Given the description of an element on the screen output the (x, y) to click on. 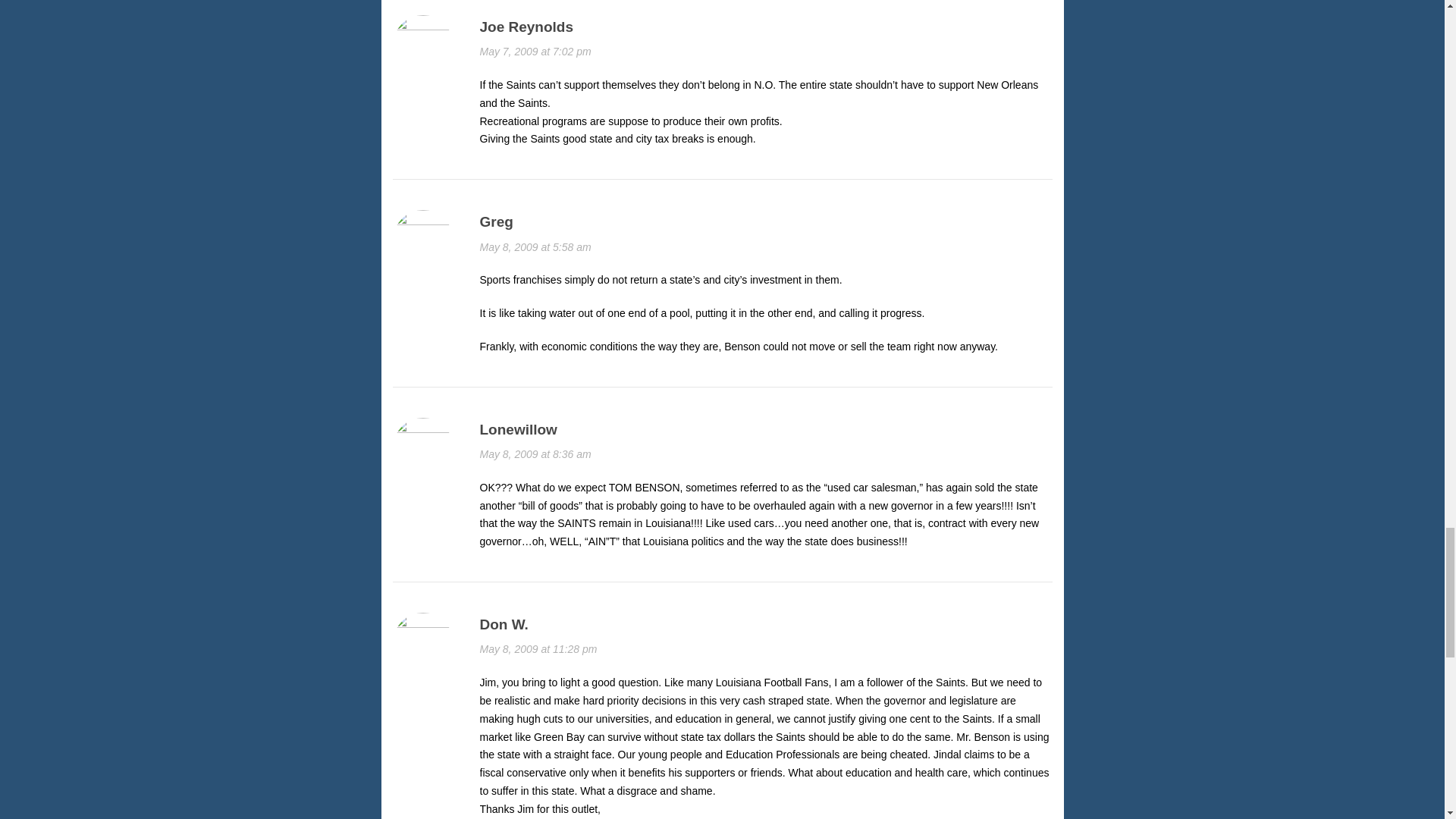
May 7, 2009 at 7:02 pm (535, 51)
May 8, 2009 at 11:28 pm (537, 648)
May 8, 2009 at 8:36 am (535, 453)
May 8, 2009 at 5:58 am (535, 246)
